Given the description of an element on the screen output the (x, y) to click on. 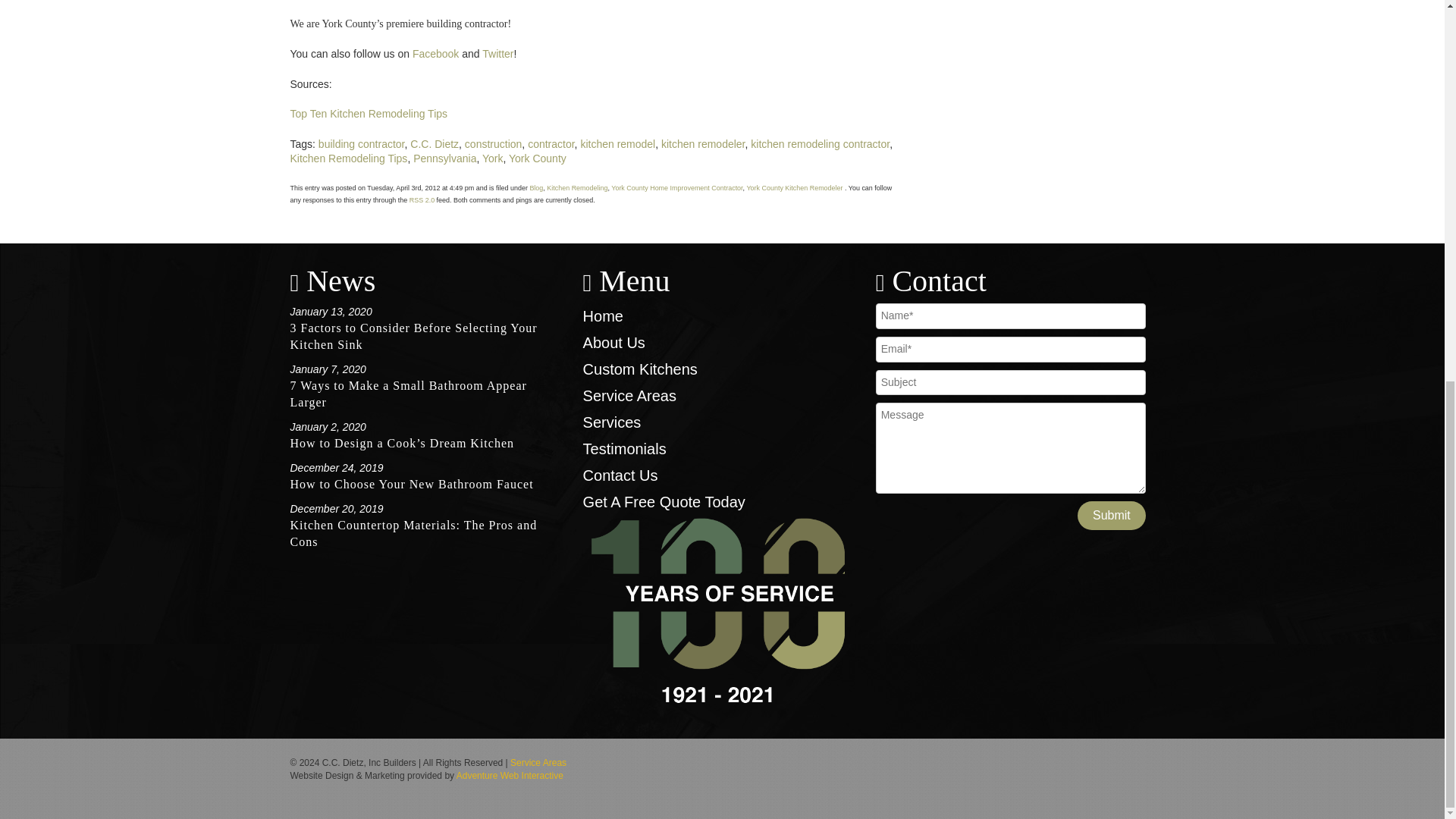
RSS 2.0 (421, 199)
Top Ten Kitchen Remodeling Tips (367, 113)
Twitter (497, 53)
Blog (536, 187)
Kitchen Remodeling (577, 187)
construction (492, 143)
York County (537, 158)
C.C. Dietz (434, 143)
York (492, 158)
Pennsylvania (444, 158)
York County Home Improvement Contractor (676, 187)
building contractor (361, 143)
contractor (550, 143)
Submit (1111, 515)
kitchen remodel (617, 143)
